Given the description of an element on the screen output the (x, y) to click on. 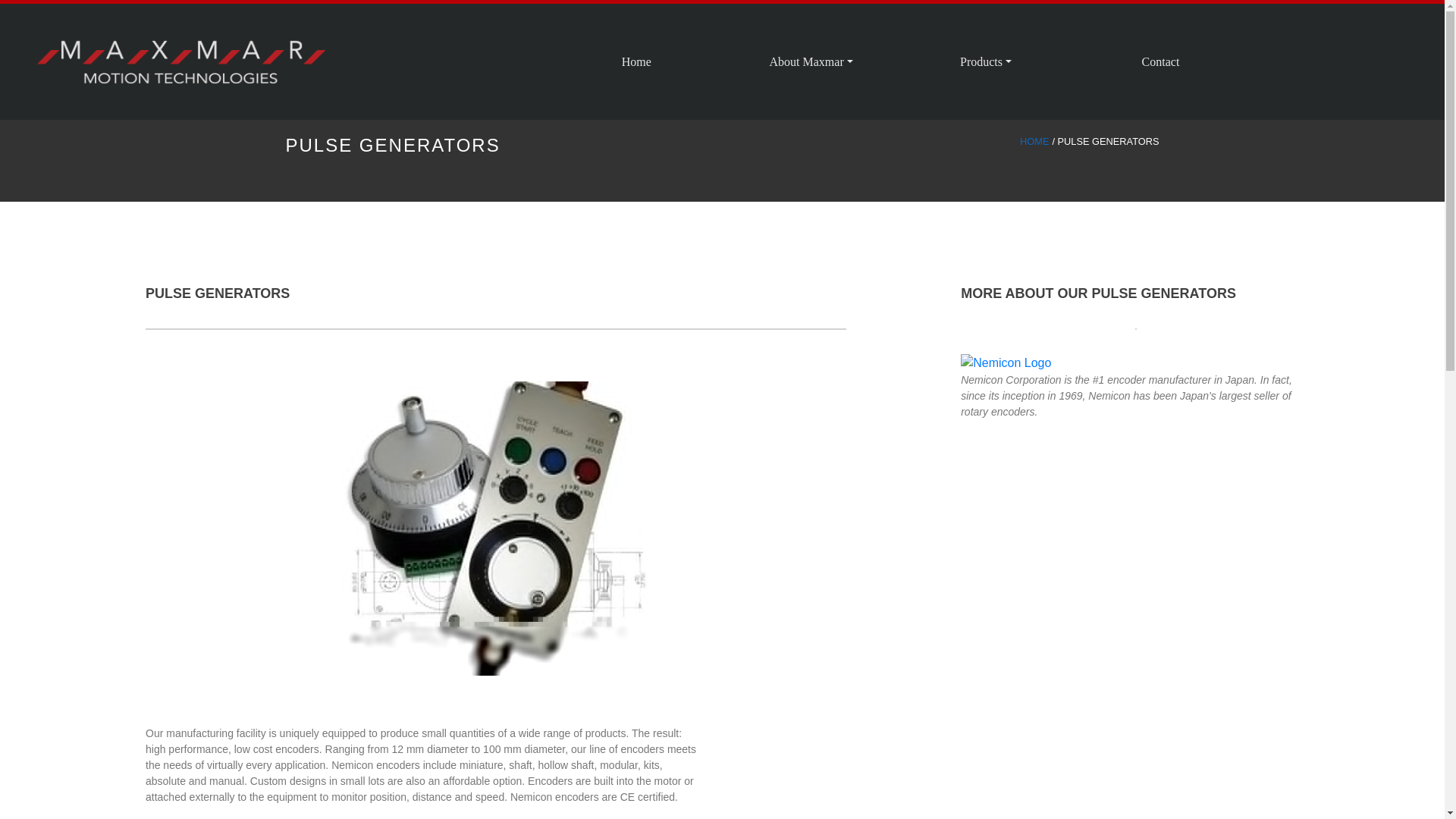
HOME (1034, 141)
About Maxmar (810, 61)
Products (985, 61)
